Given the description of an element on the screen output the (x, y) to click on. 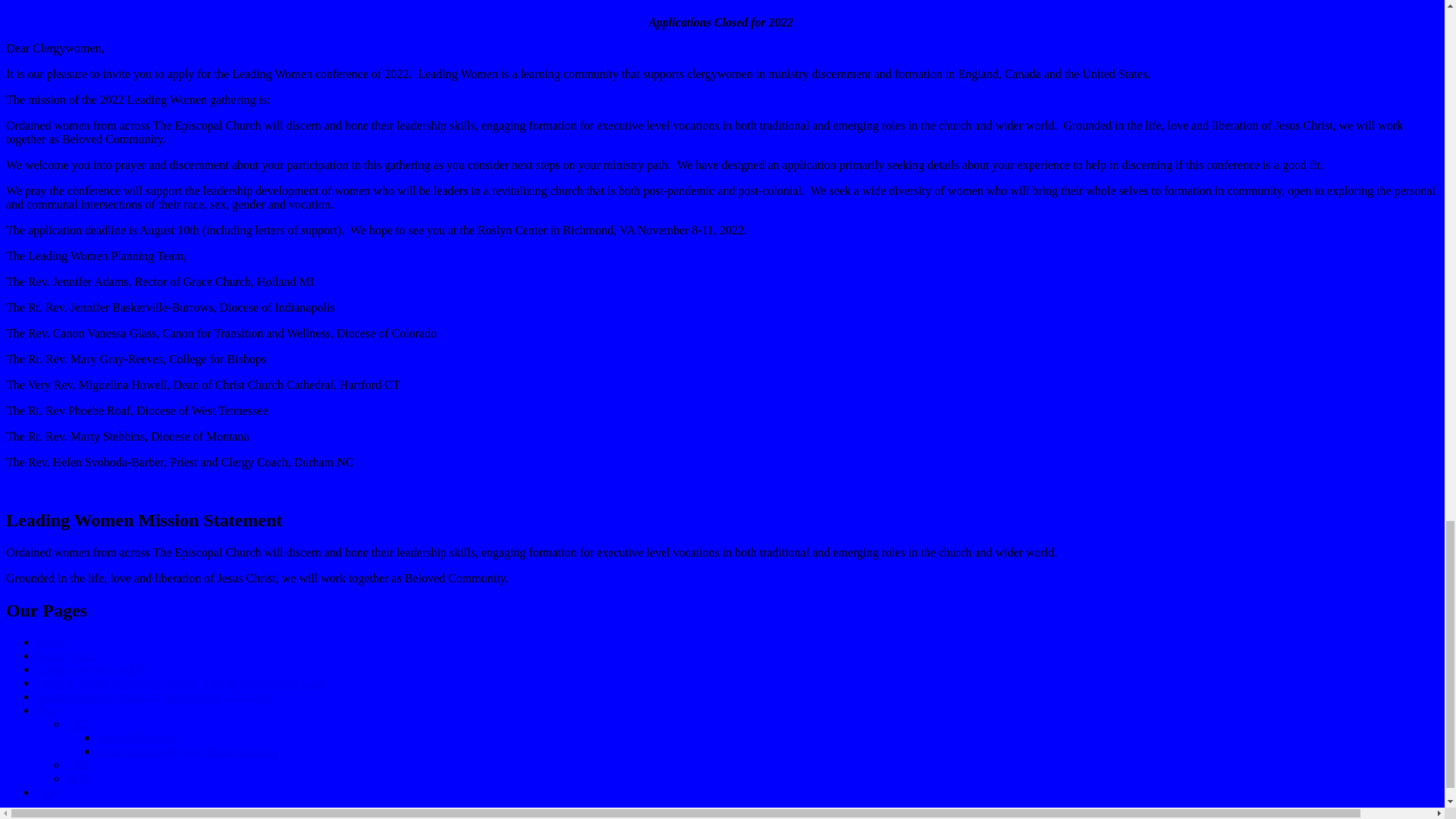
Home (50, 641)
Leading Women Spanish: Mujeres en Liderazgo (153, 696)
2022 Leading Women Draft Schedule (189, 750)
FAQ (47, 791)
2016 (78, 778)
2022 (78, 723)
Past (46, 709)
Leading Women AAPI (91, 668)
Family Tree (66, 655)
2019 (78, 764)
